Given the description of an element on the screen output the (x, y) to click on. 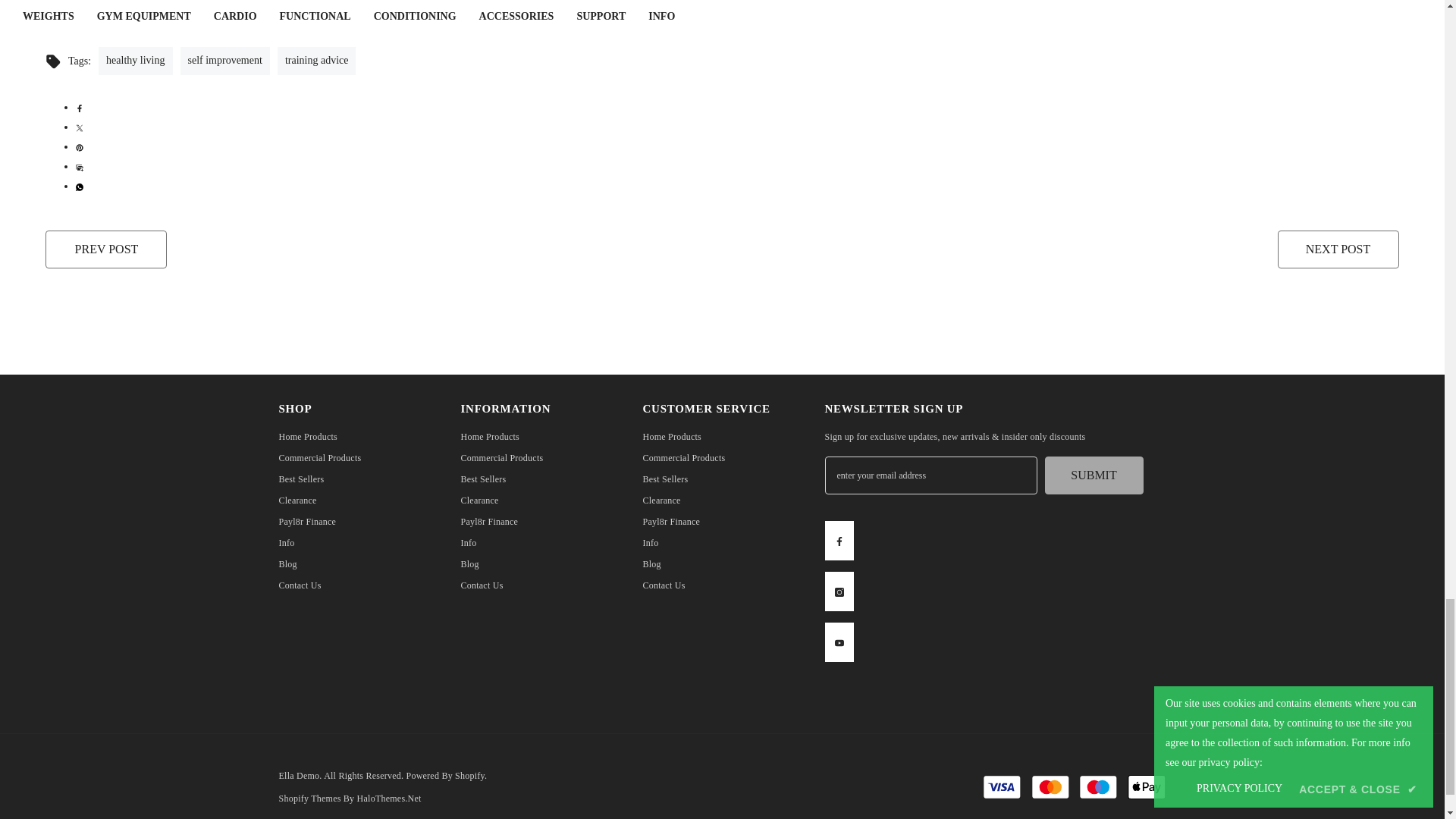
Mastercard (1050, 786)
Apple Pay (1146, 786)
Maestro (1098, 786)
Visa (1001, 786)
